Given the description of an element on the screen output the (x, y) to click on. 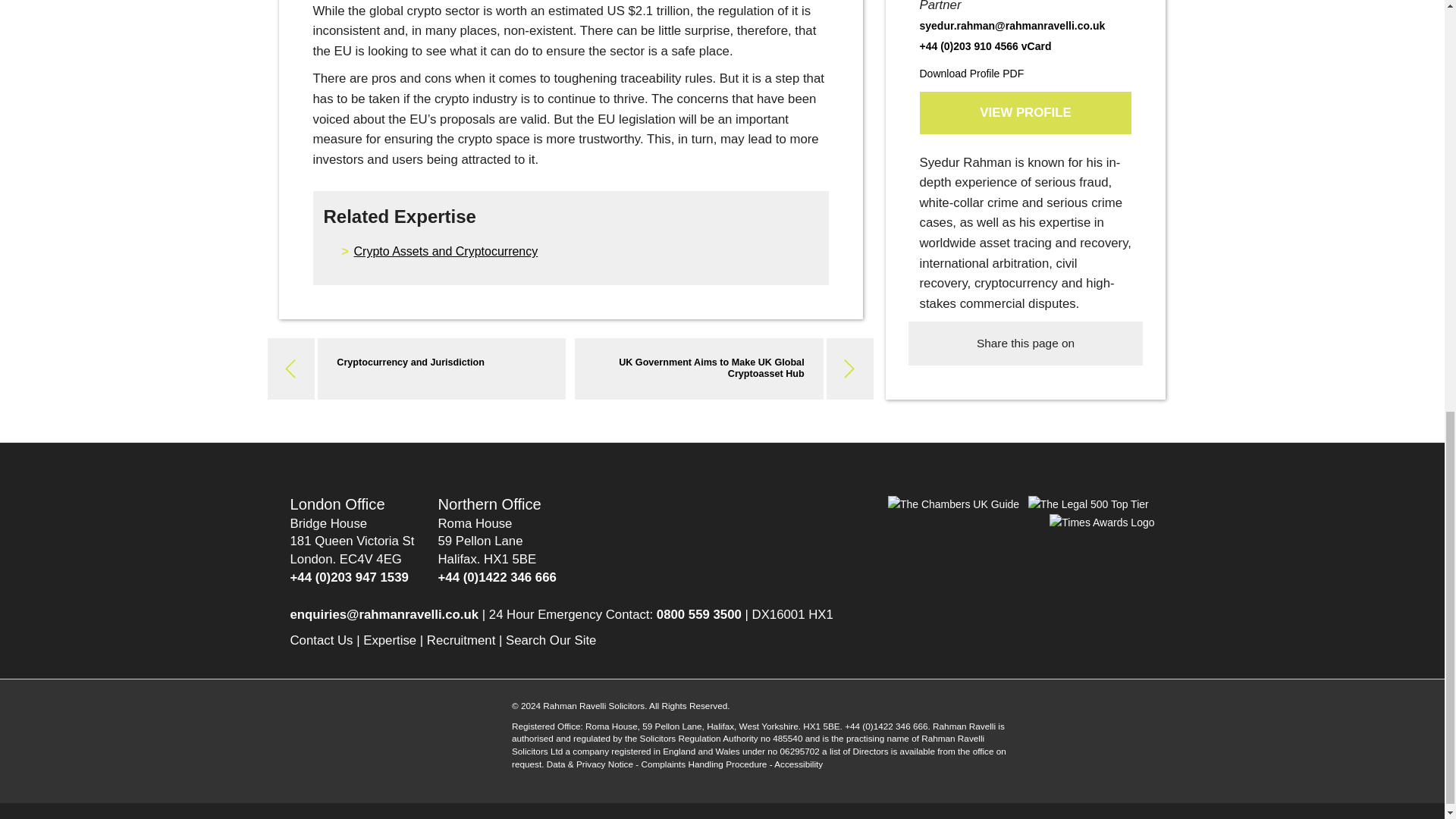
Link to: Cryptocurrency and Jurisdiction (410, 362)
Link to: Crypto Assets and Cryptocurrency (445, 250)
link to view the Rahman Ravelli profile at Legal500 website (1089, 503)
